Given the description of an element on the screen output the (x, y) to click on. 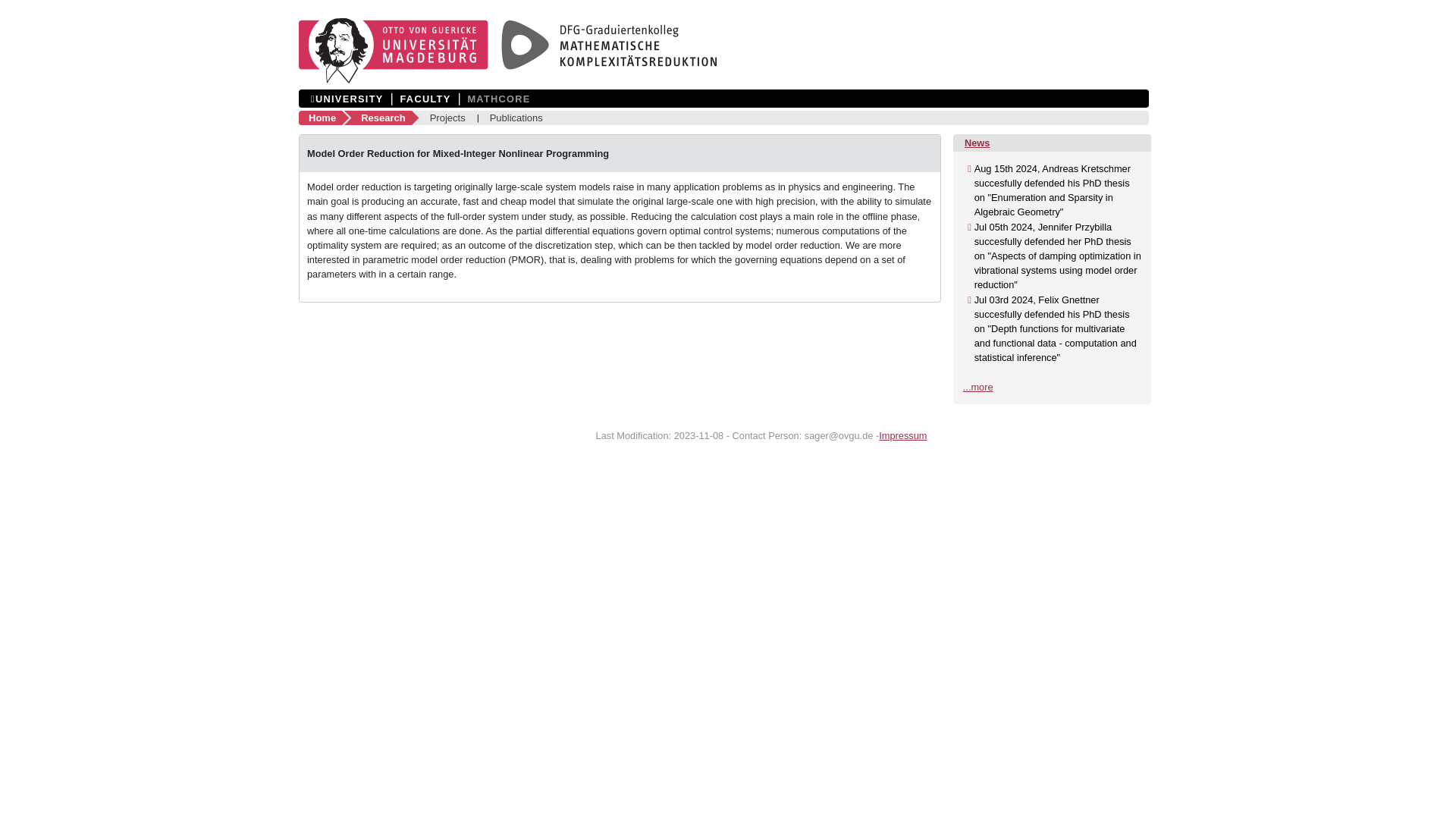
FACULTY (423, 98)
UNIVERSITY (347, 98)
...more (977, 387)
MATHCORE (498, 98)
Publications (516, 117)
Research (386, 117)
News (976, 142)
Projects (447, 117)
Home (325, 117)
